Given the description of an element on the screen output the (x, y) to click on. 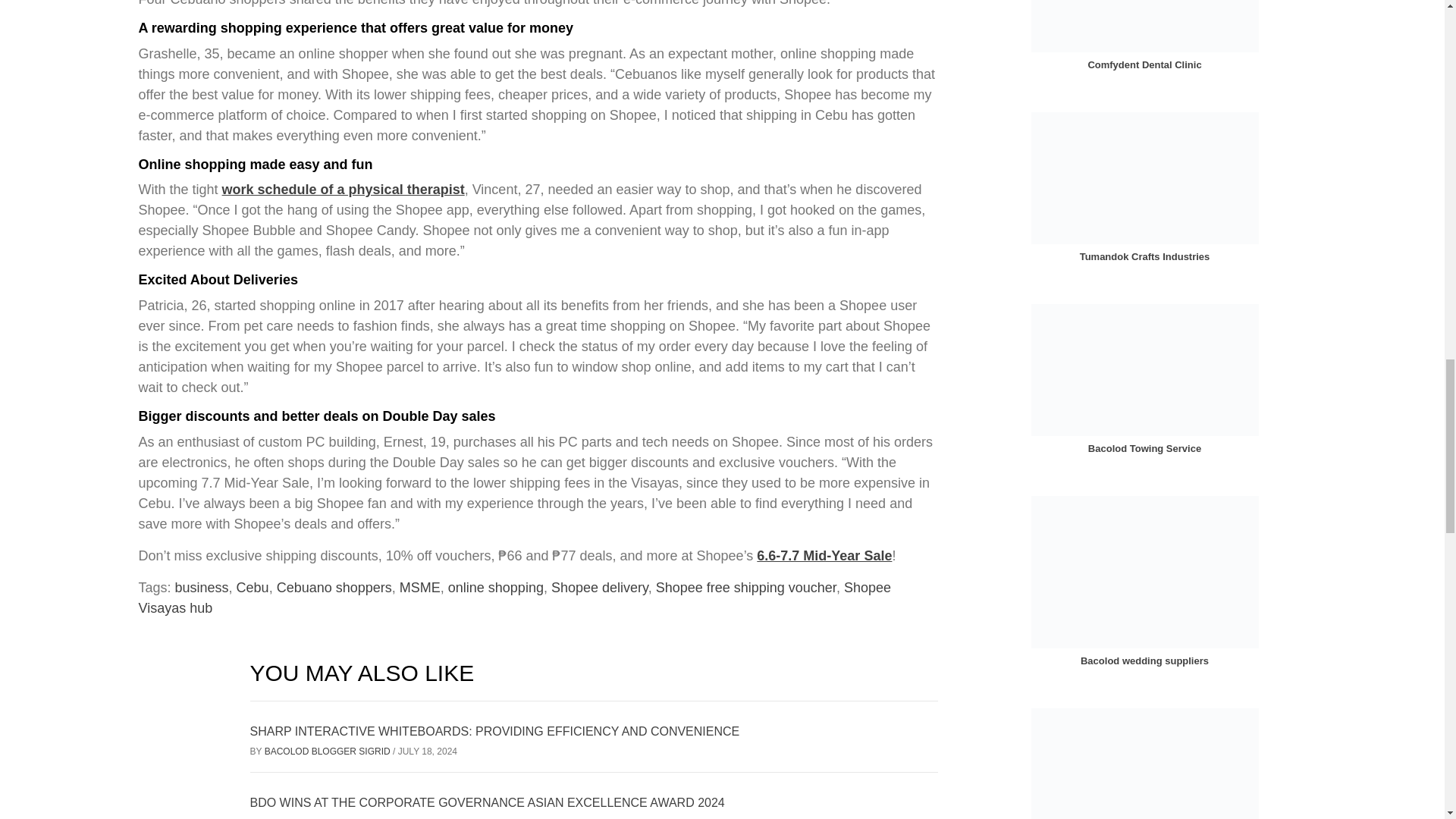
6.6-7.7 Mid-Year Sale (824, 555)
business (201, 587)
work schedule of a physical therapist (343, 189)
Cebu (252, 587)
